Given the description of an element on the screen output the (x, y) to click on. 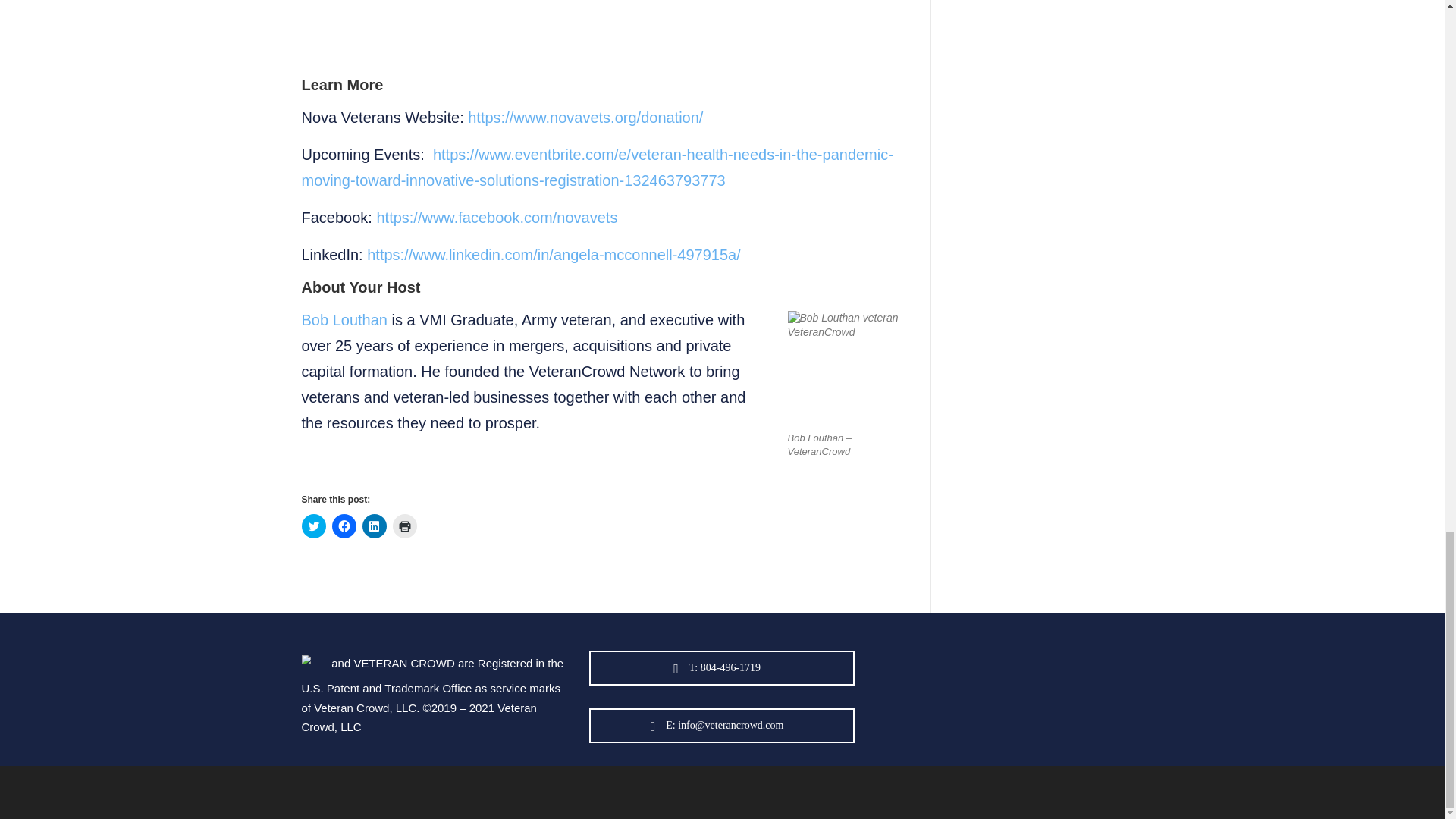
Bob Louthan (344, 320)
Click to share on Facebook (343, 526)
Click to share on LinkedIn (374, 526)
Click to share on Twitter (313, 526)
Click to print (404, 526)
